Given the description of an element on the screen output the (x, y) to click on. 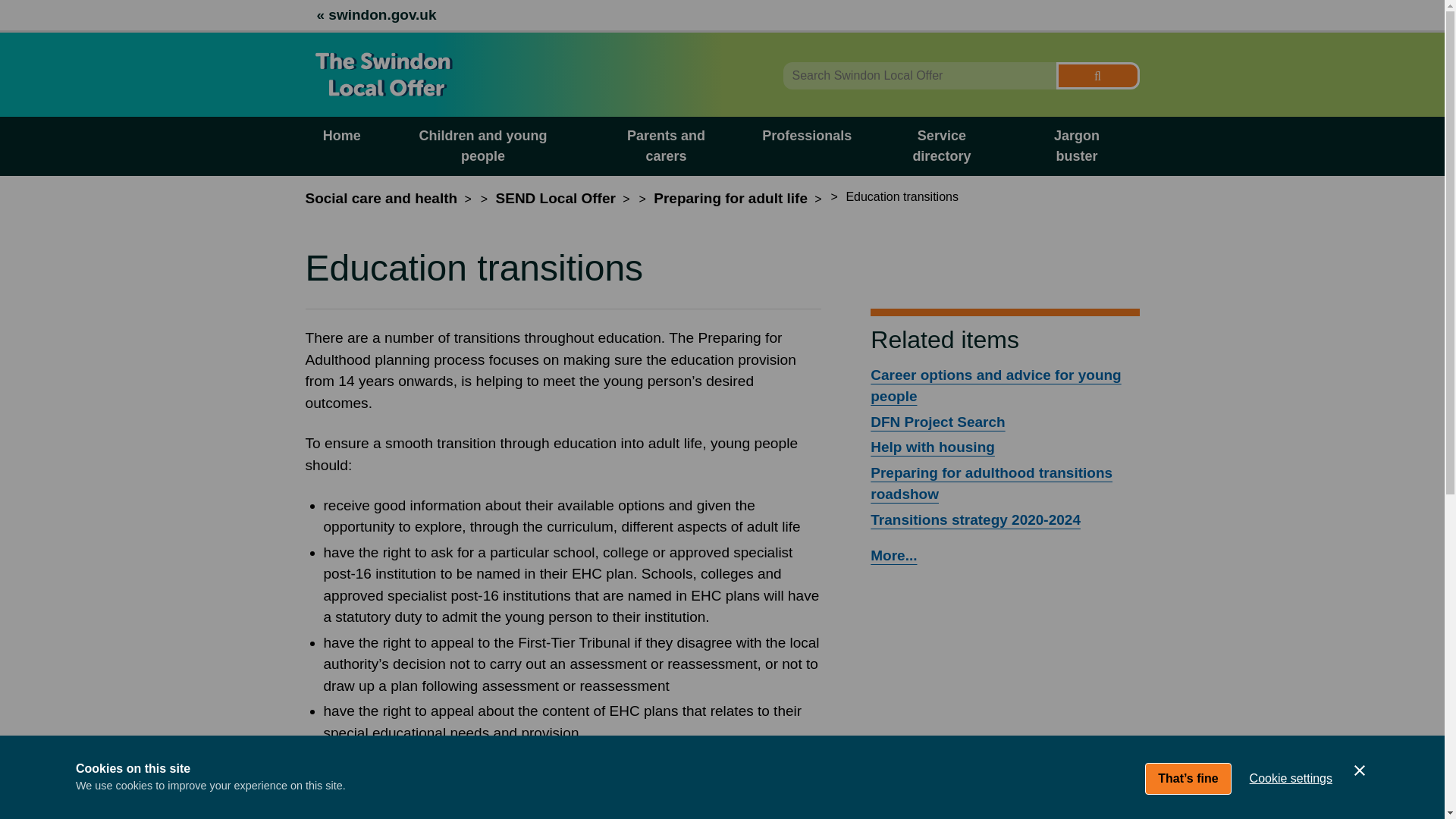
Jargon buster (1075, 146)
DFN Project Search (937, 421)
Social care and health (380, 198)
Search (1096, 75)
SEND Local Offer (555, 198)
Help with housing (932, 446)
Preparing for adulthood transitions roadshow (991, 483)
Professionals (806, 146)
More... (893, 555)
Home (340, 146)
Preparing for adult life (730, 198)
Service directory (941, 146)
Transitions strategy 2020-2024 (975, 519)
Parents and carers (666, 146)
Career options and advice for young people (995, 385)
